Given the description of an element on the screen output the (x, y) to click on. 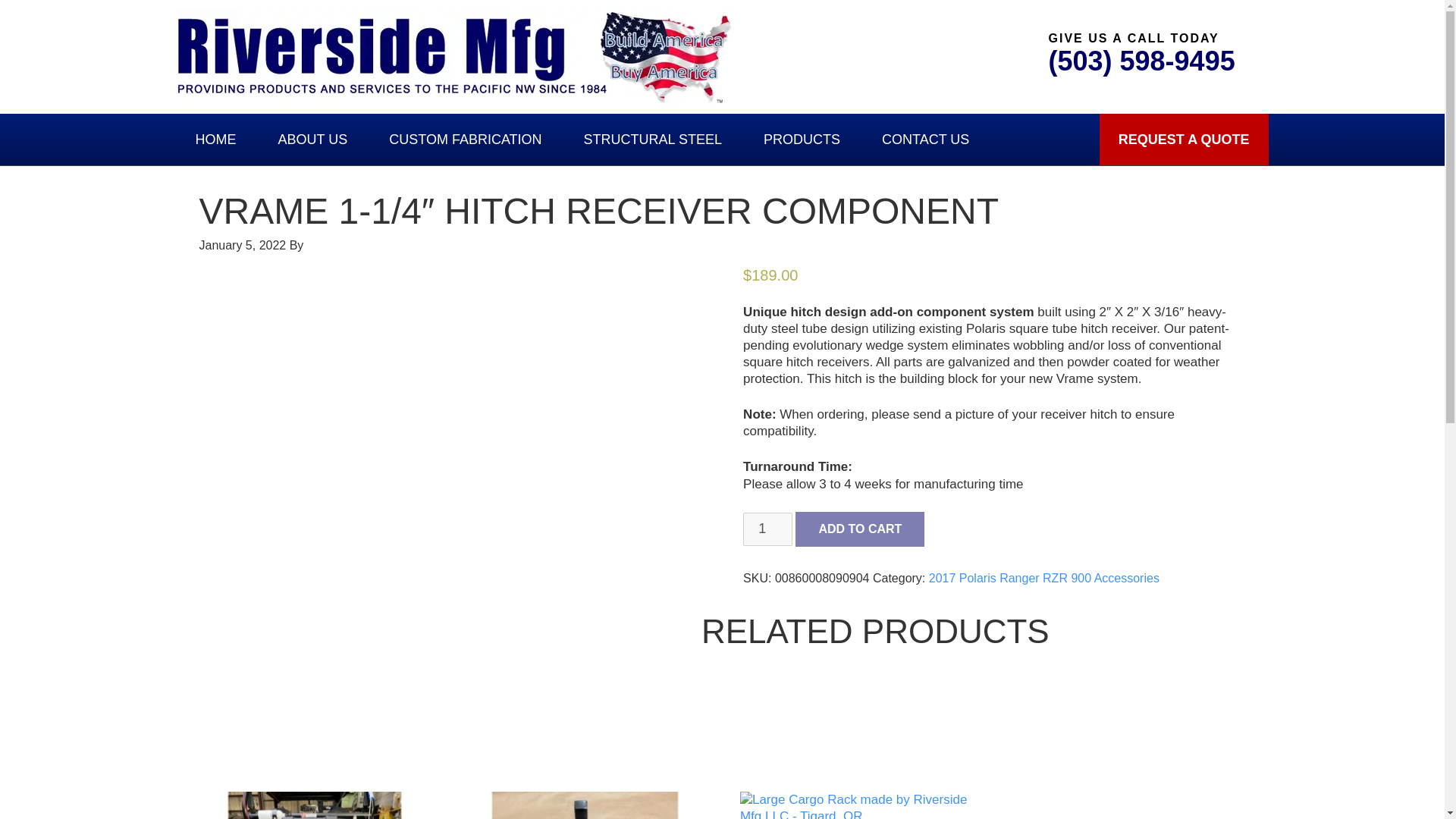
2017 Polaris Ranger RZR 900 Accessories (1043, 577)
CUSTOM FABRICATION (464, 139)
ADD TO CART (859, 529)
STRUCTURAL STEEL (652, 139)
REQUEST A QUOTE (1183, 139)
PRODUCTS (801, 139)
CONTACT US (925, 139)
1 (767, 529)
HOME (215, 139)
